Given the description of an element on the screen output the (x, y) to click on. 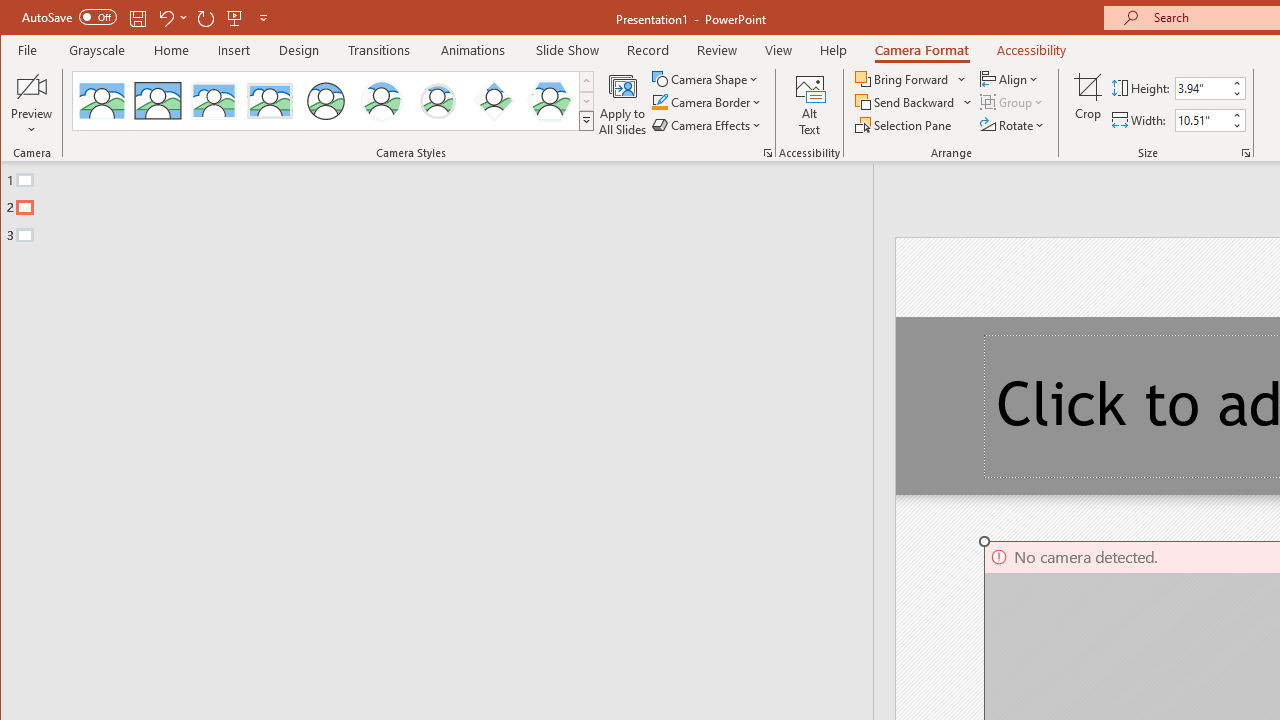
Camera Border Blue, Accent 1 (659, 101)
Home (171, 50)
Send Backward (906, 101)
Bring Forward (911, 78)
Format Object... (767, 152)
Center Shadow Diamond (493, 100)
View (779, 50)
AutomationID: CameoStylesGallery (333, 101)
AutoSave (68, 16)
Insert (233, 50)
Transitions (379, 50)
Size and Position... (1245, 152)
Customize Quick Access Toolbar (263, 17)
Quick Access Toolbar (146, 17)
